Given the description of an element on the screen output the (x, y) to click on. 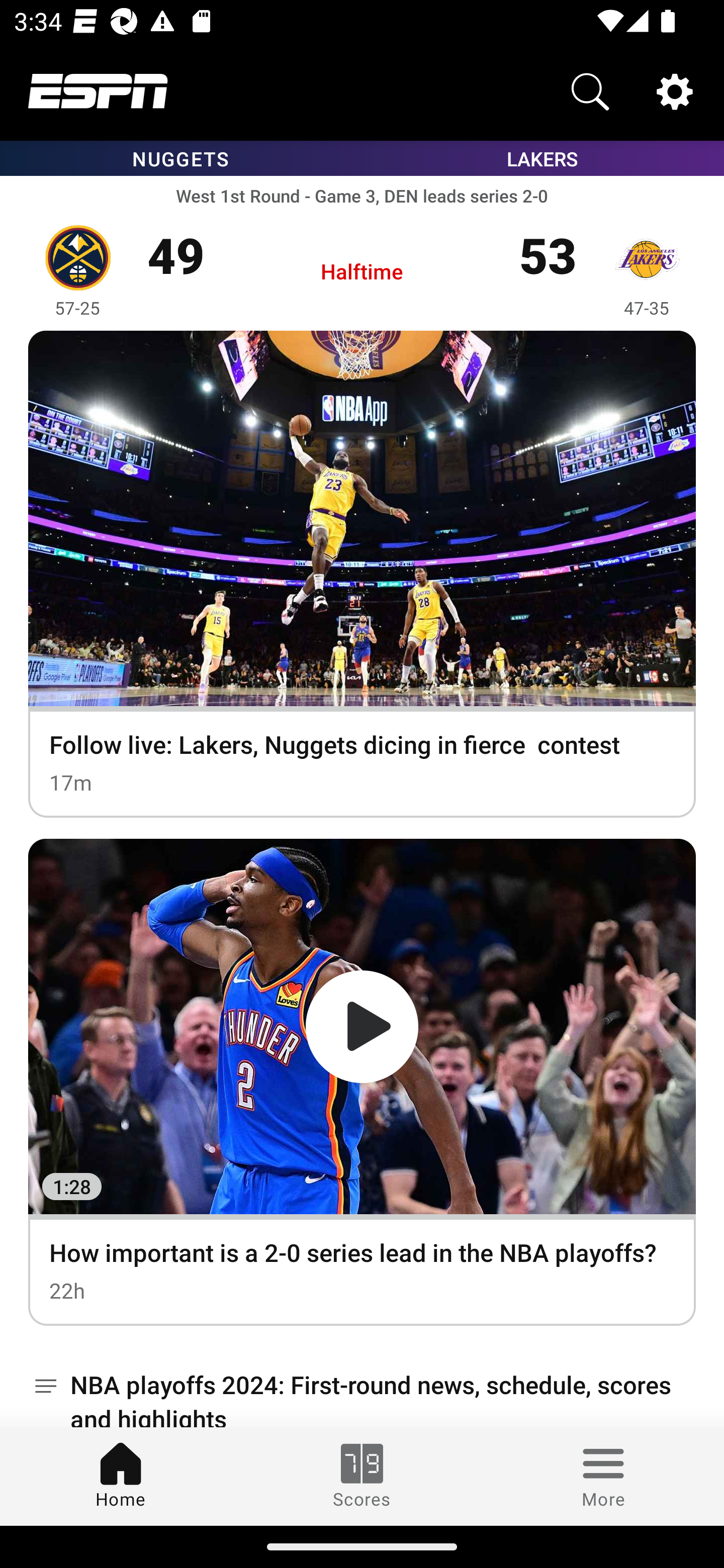
Search (590, 90)
Settings (674, 90)
Scores (361, 1475)
More (603, 1475)
